Given the description of an element on the screen output the (x, y) to click on. 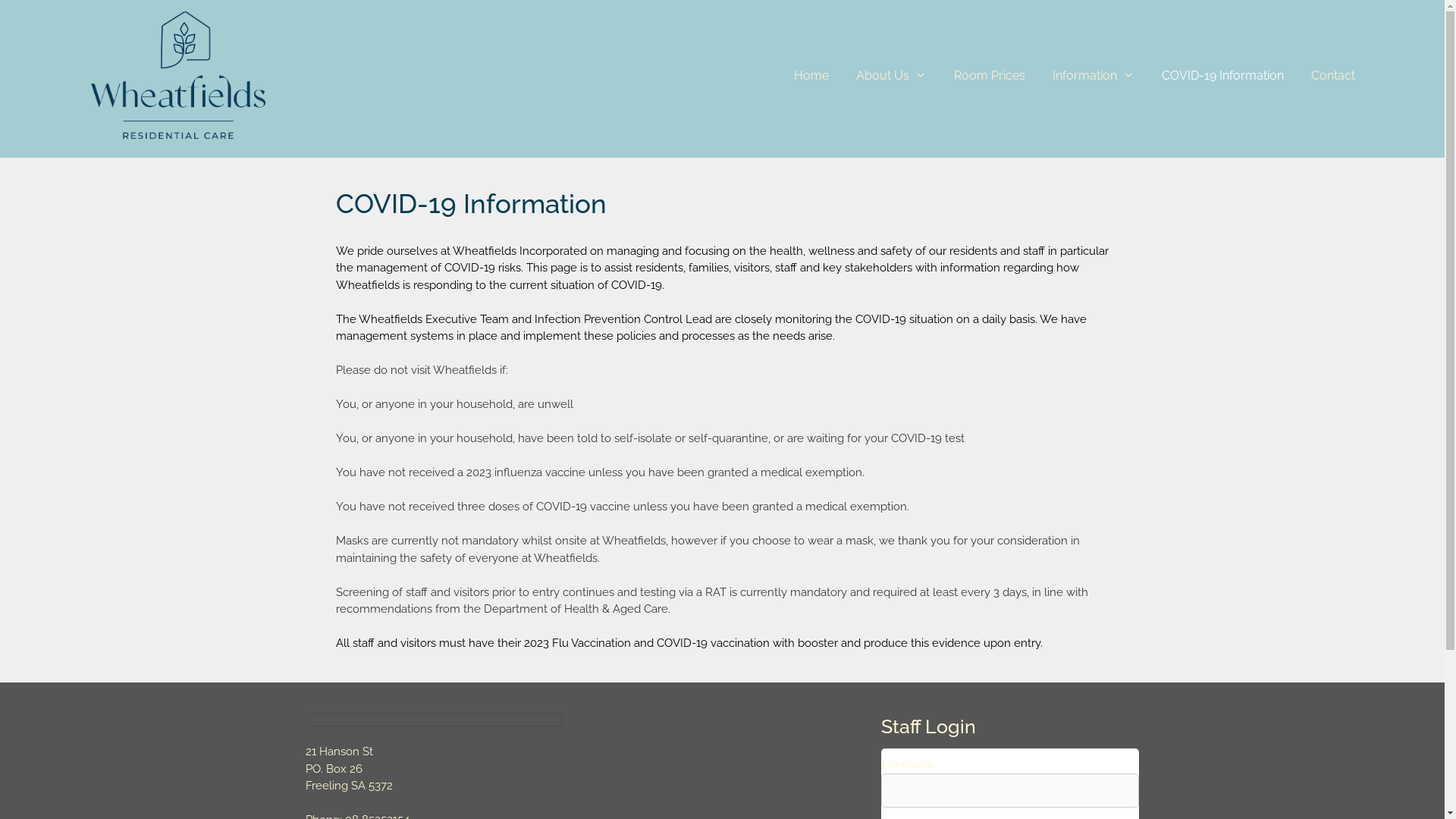
Room Prices Element type: text (989, 75)
COVID-19 Information Element type: text (1222, 75)
Please enter username Element type: hover (1010, 790)
About Us Element type: text (891, 75)
Information Element type: text (1093, 75)
Contact Element type: text (1332, 75)
Home Element type: text (811, 75)
